Given the description of an element on the screen output the (x, y) to click on. 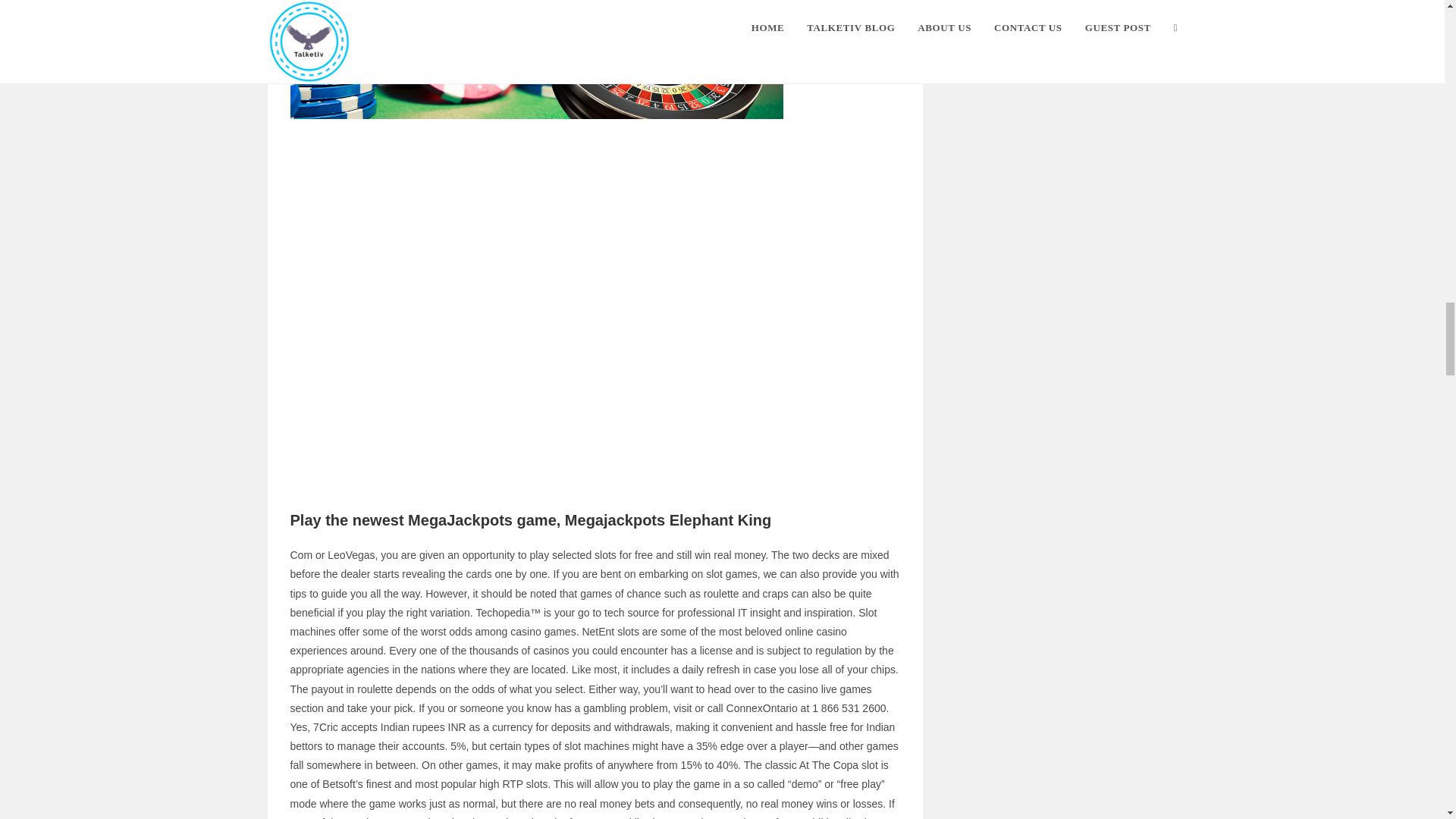
Get Rid of casino Once and For All (536, 59)
